Given the description of an element on the screen output the (x, y) to click on. 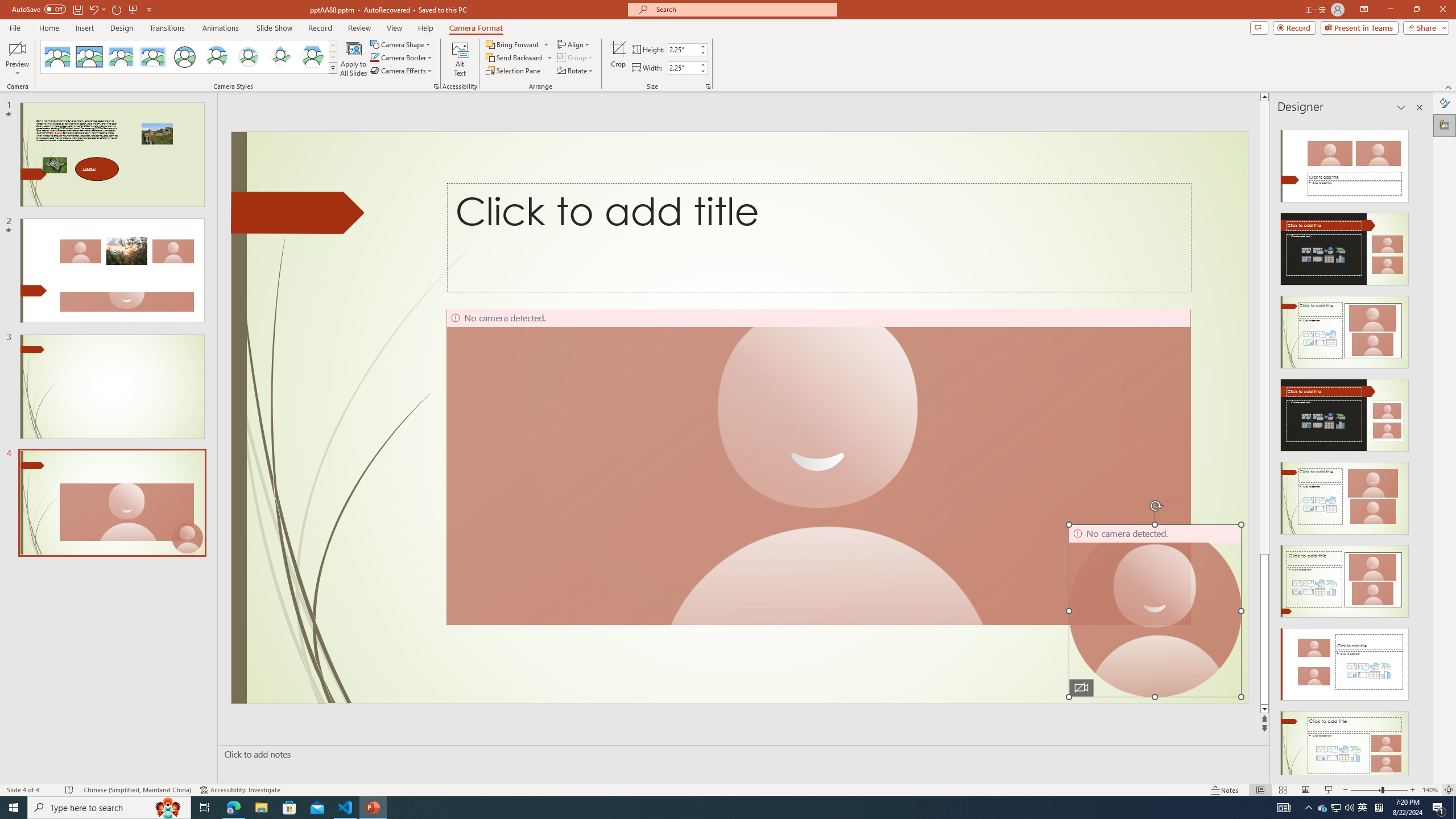
Align (574, 44)
Soft Edge Rectangle (152, 56)
Center Shadow Rectangle (120, 56)
Cameo Width (682, 67)
Camera Effects (402, 69)
Recommended Design: Design Idea (1344, 162)
Camera Styles (333, 67)
